Given the description of an element on the screen output the (x, y) to click on. 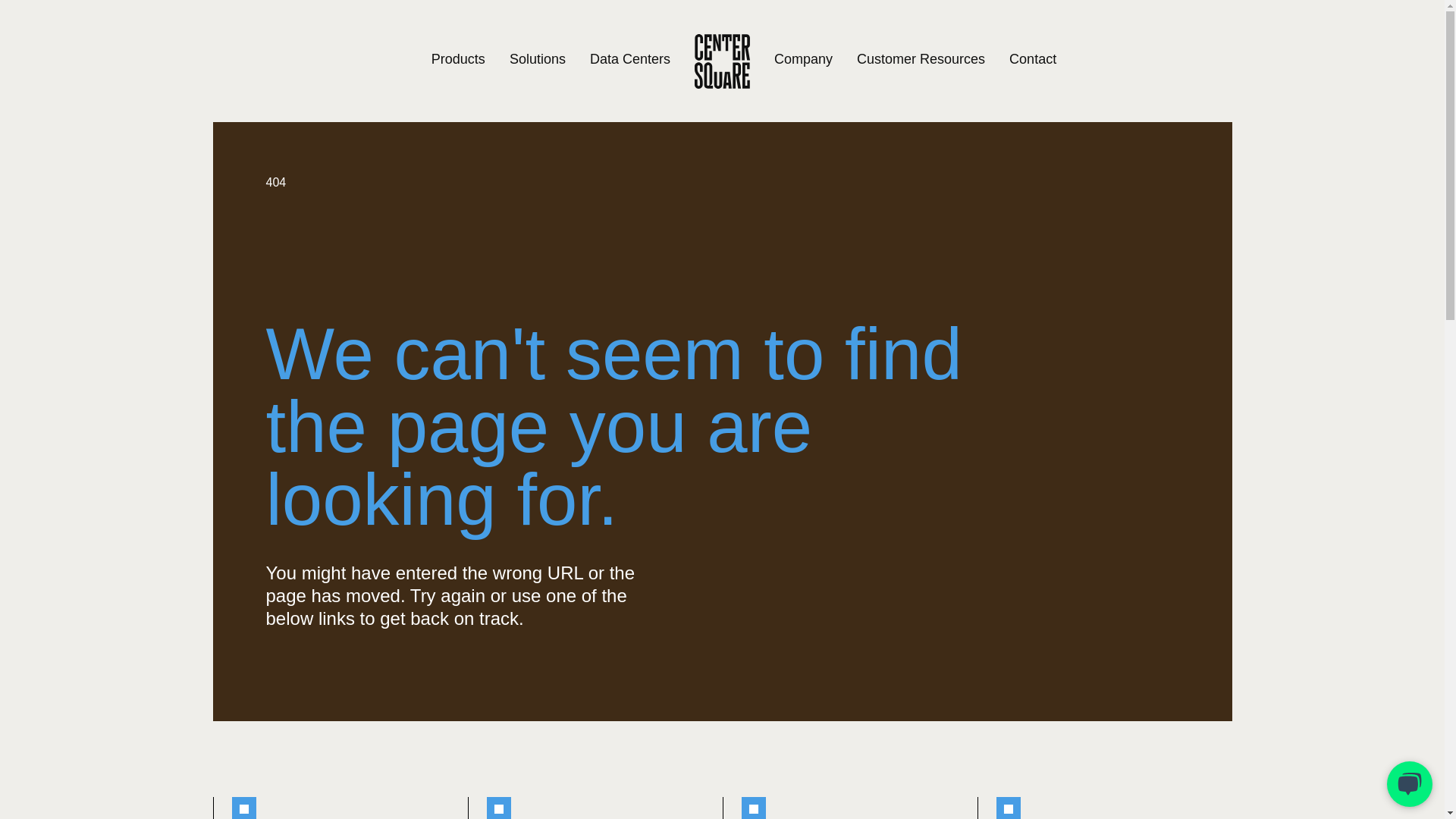
Company (803, 58)
Solutions (537, 58)
Customer Resources (921, 58)
Contact (1033, 58)
Data Centers (629, 58)
Products (457, 58)
